Given the description of an element on the screen output the (x, y) to click on. 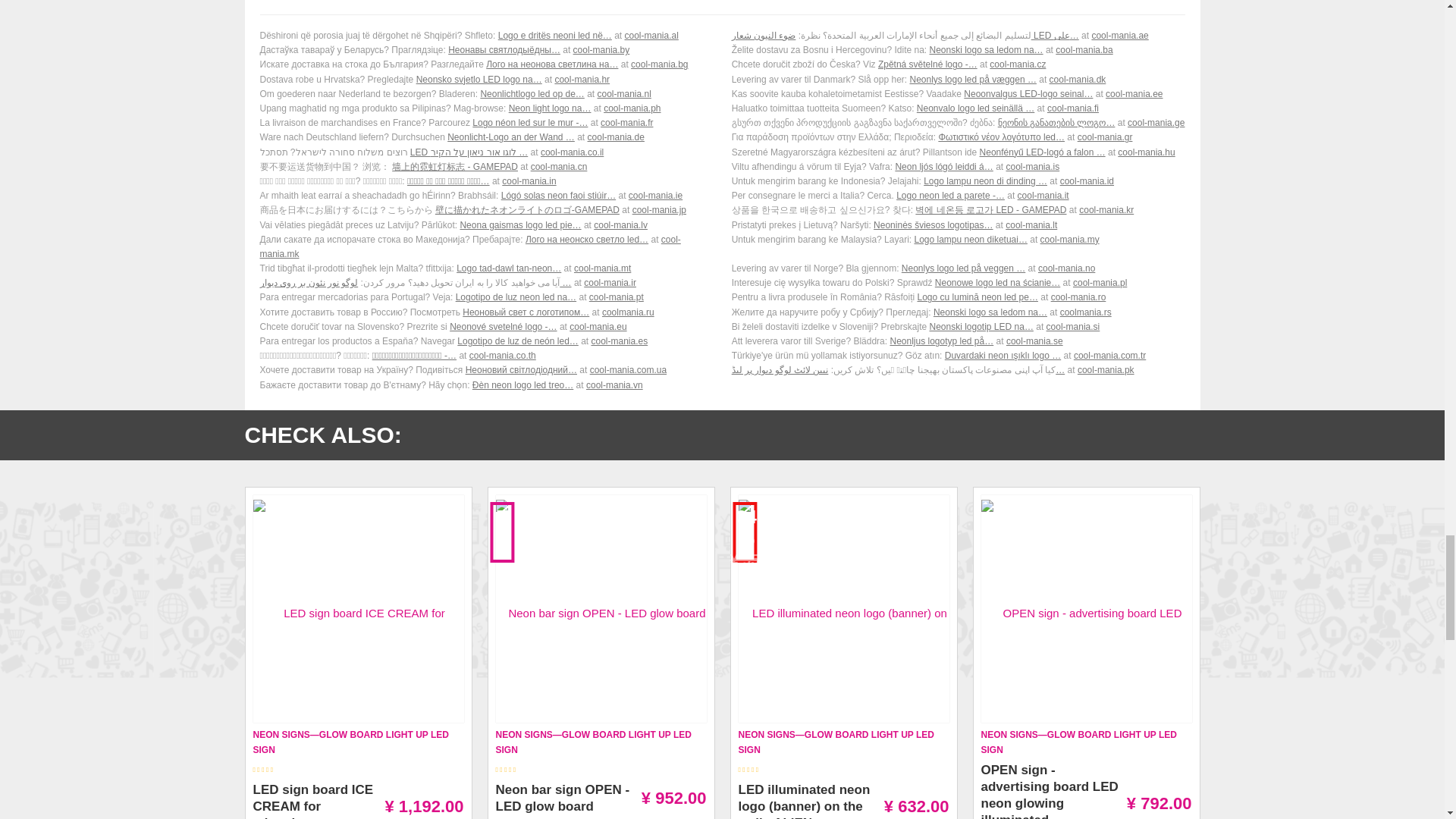
To deliver goods worldwide? Browse: (486, 64)
To deliver goods worldwide? Browse: (486, 79)
To deliver goods worldwide? Browse: (486, 108)
cool-mania.ae (1119, 35)
To deliver goods worldwide? Browse: (486, 123)
To deliver goods worldwide? Browse: (486, 93)
To deliver goods worldwide? Browse: (958, 35)
To deliver goods worldwide? Browse: (486, 137)
To deliver goods worldwide? Browse: (958, 108)
cool-mania.al (651, 35)
